Given the description of an element on the screen output the (x, y) to click on. 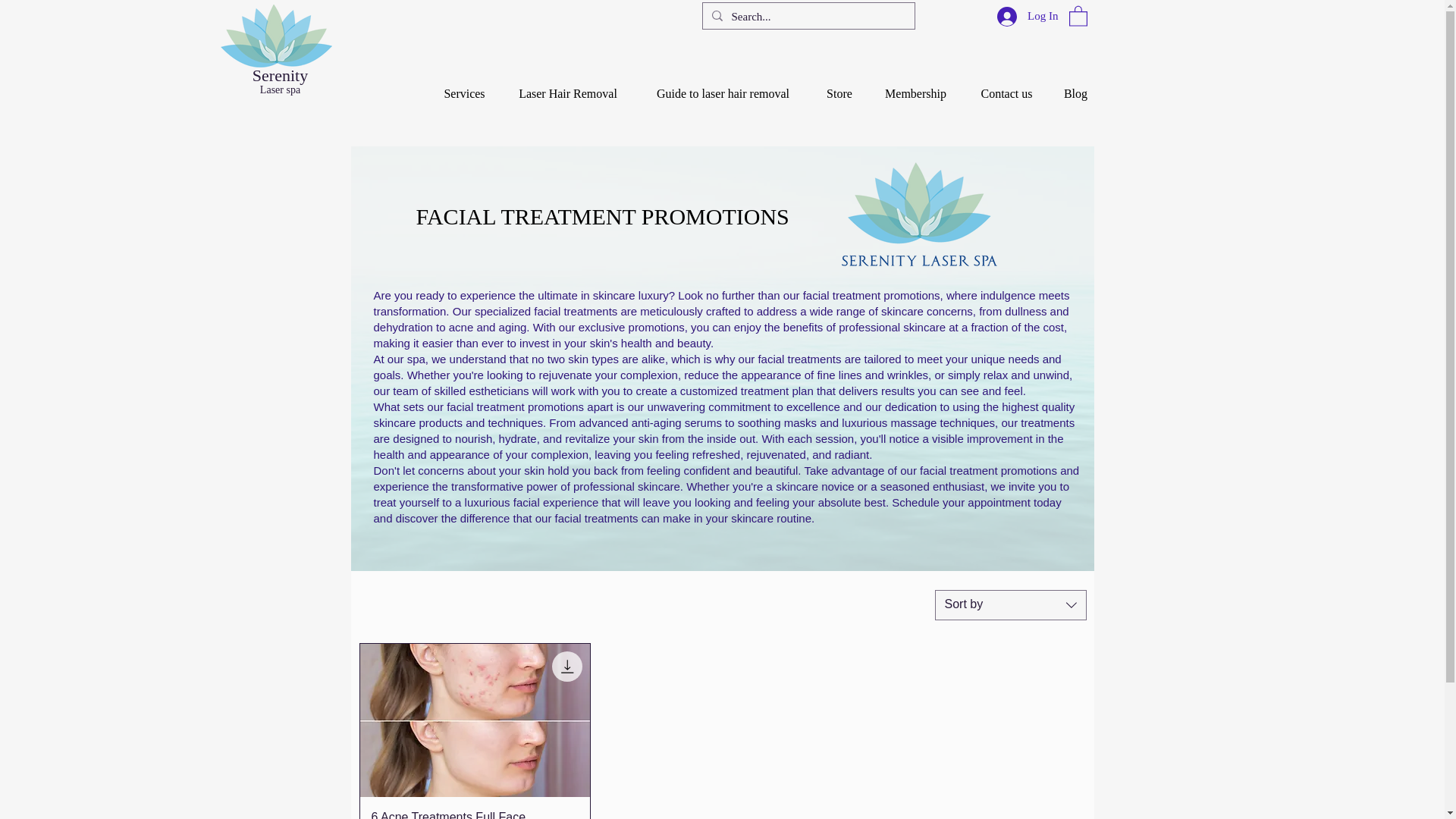
Serenity (279, 75)
Guide to laser hair removal (722, 86)
Laser Hair Removal (567, 86)
Services (464, 86)
Blog (1074, 86)
Log In (1027, 15)
Store (838, 86)
Contact us (1005, 86)
Membership (914, 86)
Laser spa (279, 89)
Sort by (1010, 604)
